Given the description of an element on the screen output the (x, y) to click on. 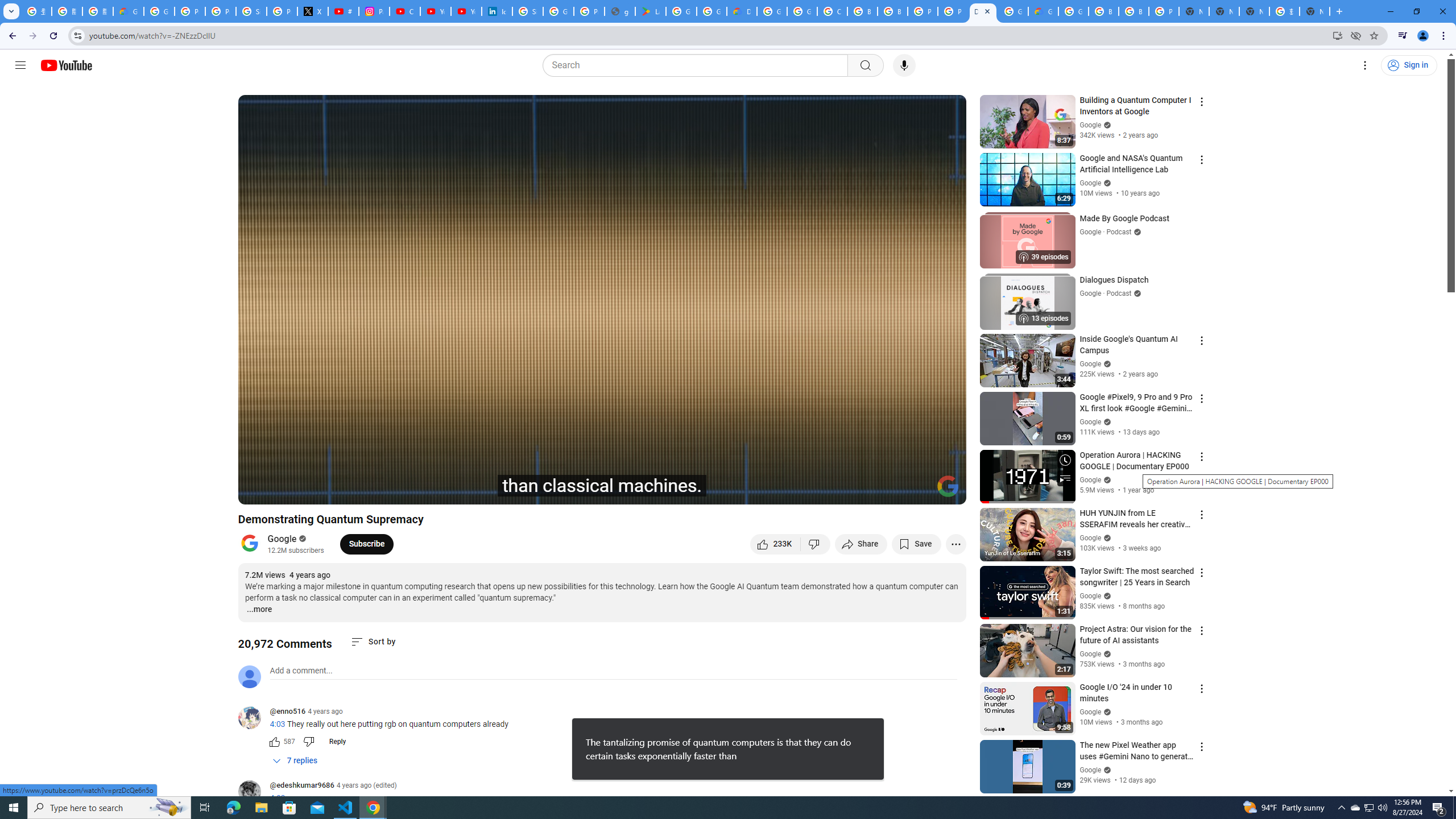
Sign in - Google Accounts (251, 11)
...more (259, 609)
Google Cloud Estimate Summary (1042, 11)
Action menu (1200, 746)
google_privacy_policy_en.pdf (619, 11)
Guide (20, 65)
Subtitles/closed captions unavailable (836, 490)
